Given the description of an element on the screen output the (x, y) to click on. 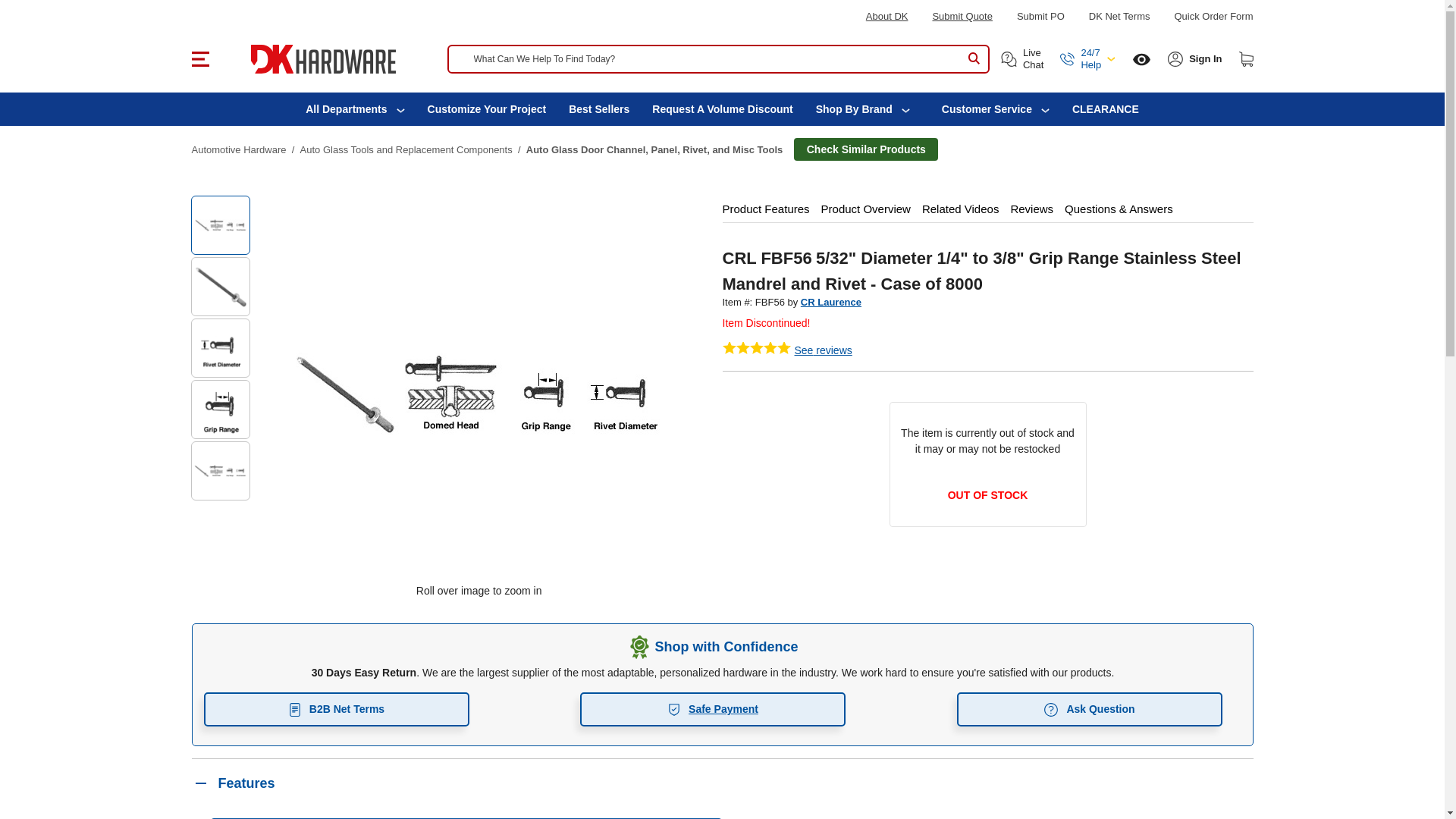
Check Similar Products (865, 149)
Customize Your Project (486, 109)
See reviews (822, 350)
Automotive Hardware (237, 149)
opens Safe Payment in a new window (712, 709)
4.8 out of 5 star rating (756, 347)
Request A Volume Discount (721, 109)
DK Hardware (322, 59)
About DK (887, 16)
B2B Net Terms (335, 709)
CLEARANCE (1105, 109)
Safe Payment (712, 709)
Auto Glass Tools and Replacement Components (405, 149)
Auto Glass Door Channel, Panel, Rivet, and Misc Tools (654, 149)
Features (721, 782)
